Given the description of an element on the screen output the (x, y) to click on. 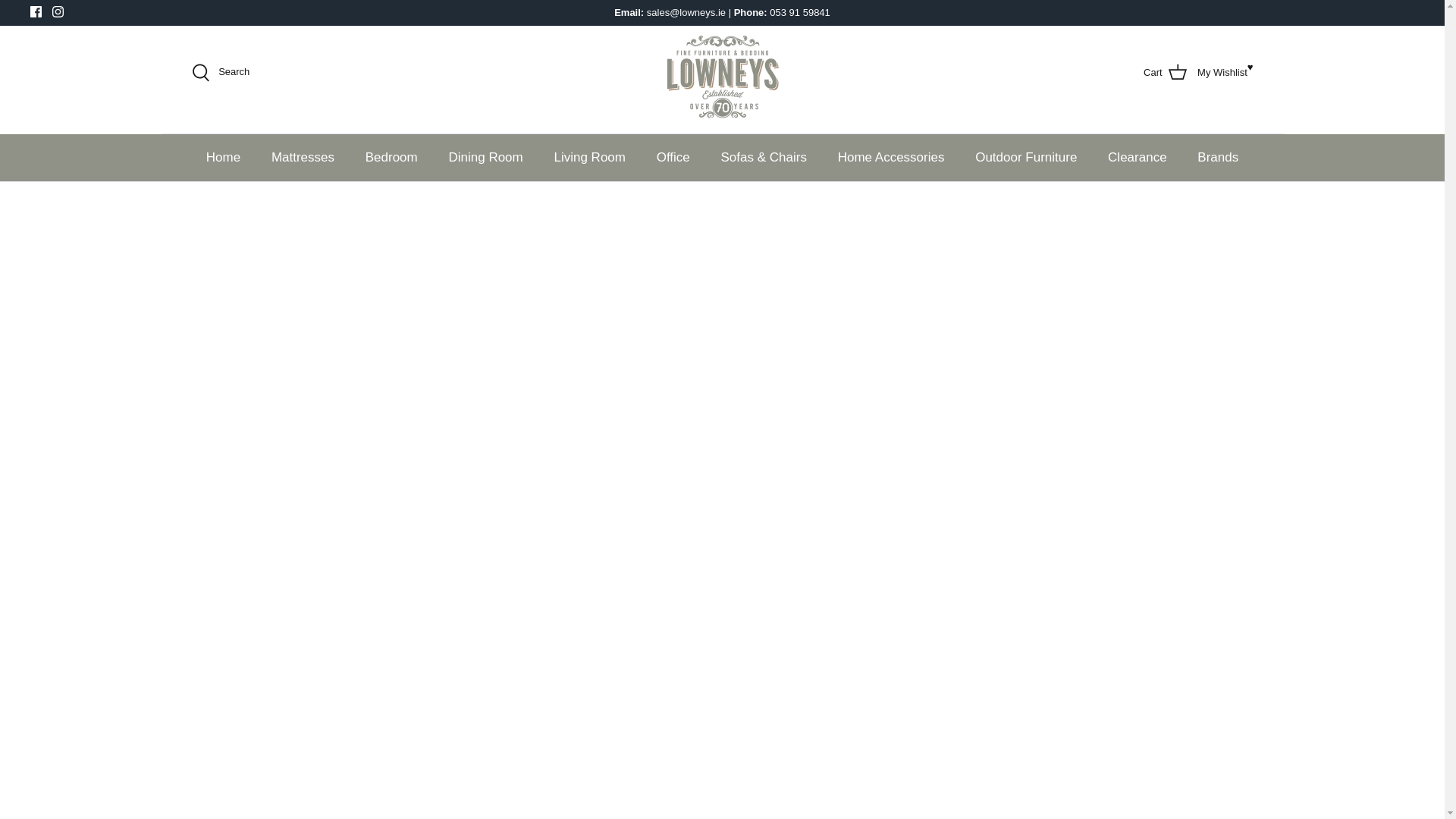
Dining Room (484, 157)
Bedroom (391, 157)
Instagram (1169, 72)
Home (58, 11)
My Wishlist (222, 157)
Facebook (1221, 73)
Facebook (36, 11)
Mattresses (36, 11)
Instagram (302, 157)
